Given the description of an element on the screen output the (x, y) to click on. 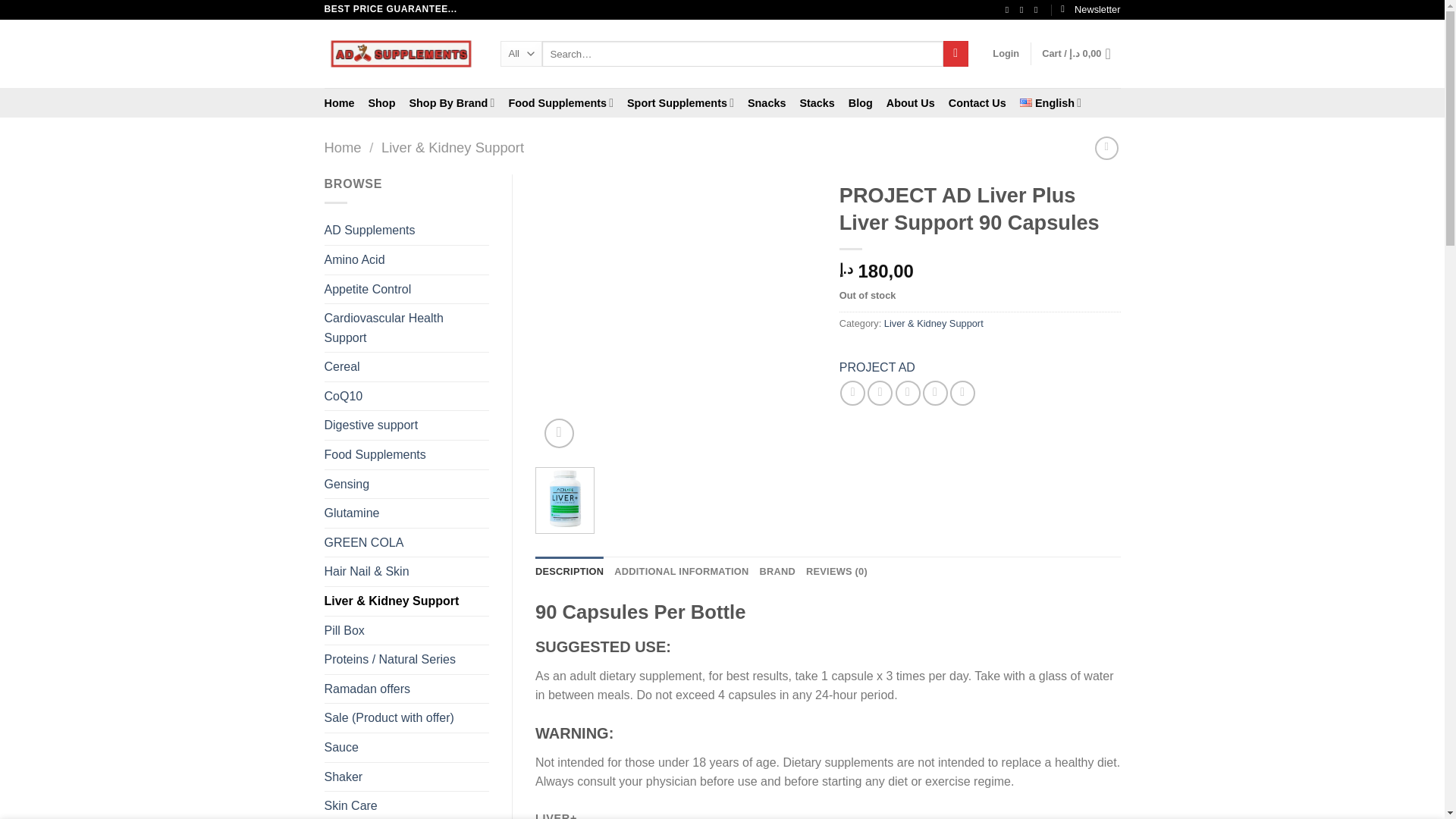
Shop By Brand (452, 102)
Home (339, 103)
Cart (1080, 53)
View brand (877, 367)
Newsletter (1090, 9)
Food Supplements (560, 102)
liver.1Large2 (675, 314)
Search (955, 53)
Zoom (558, 432)
Shop (381, 103)
